Given the description of an element on the screen output the (x, y) to click on. 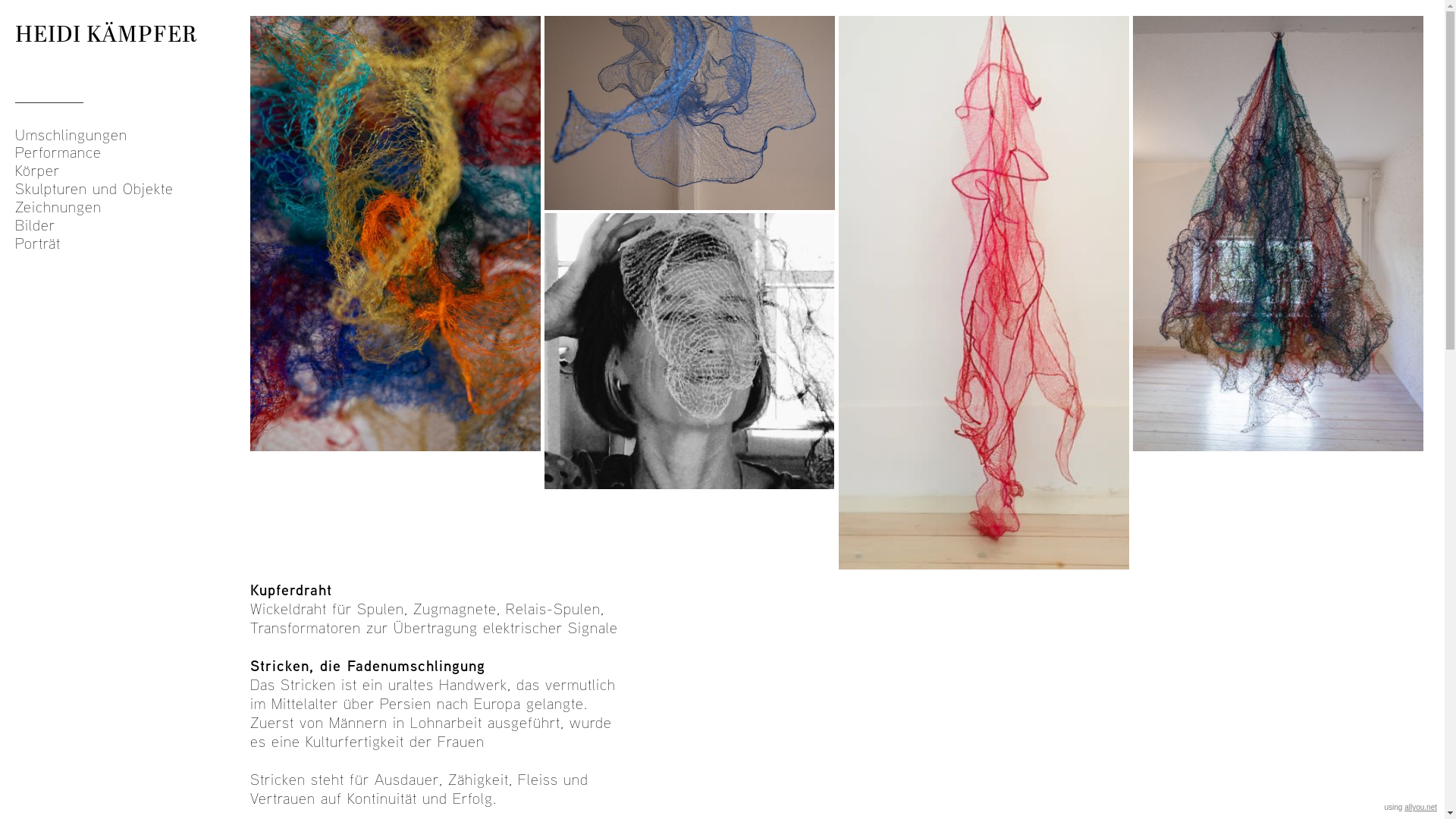
Umschlingungen Element type: text (128, 134)
allyou.net Element type: text (1420, 807)
Zeichnungen Element type: text (128, 206)
Bilder Element type: text (128, 225)
Performance Element type: text (128, 152)
Skulpturen und Objekte Element type: text (128, 188)
